Given the description of an element on the screen output the (x, y) to click on. 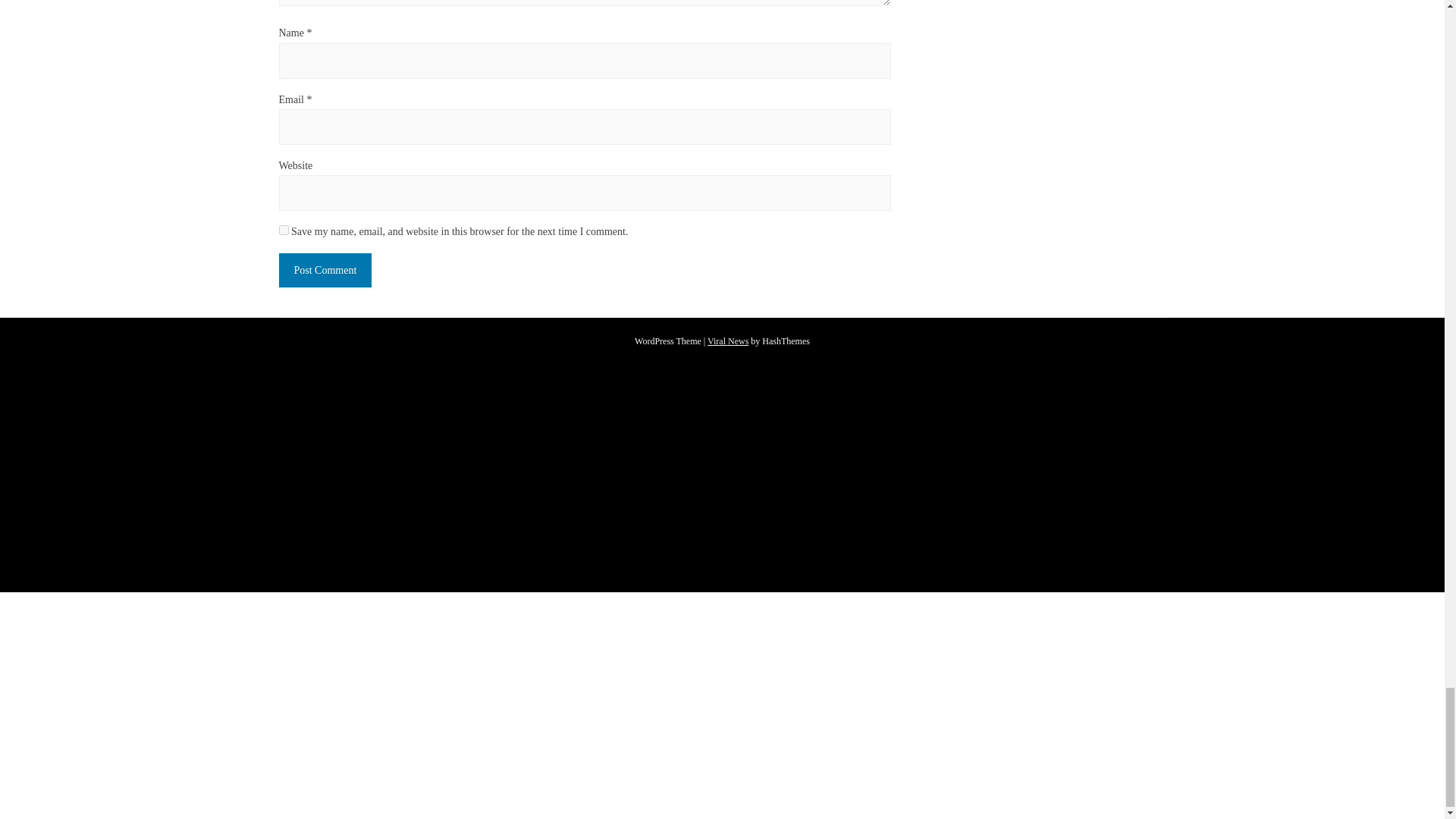
Post Comment (325, 270)
Download Viral News (727, 340)
yes (283, 230)
